Given the description of an element on the screen output the (x, y) to click on. 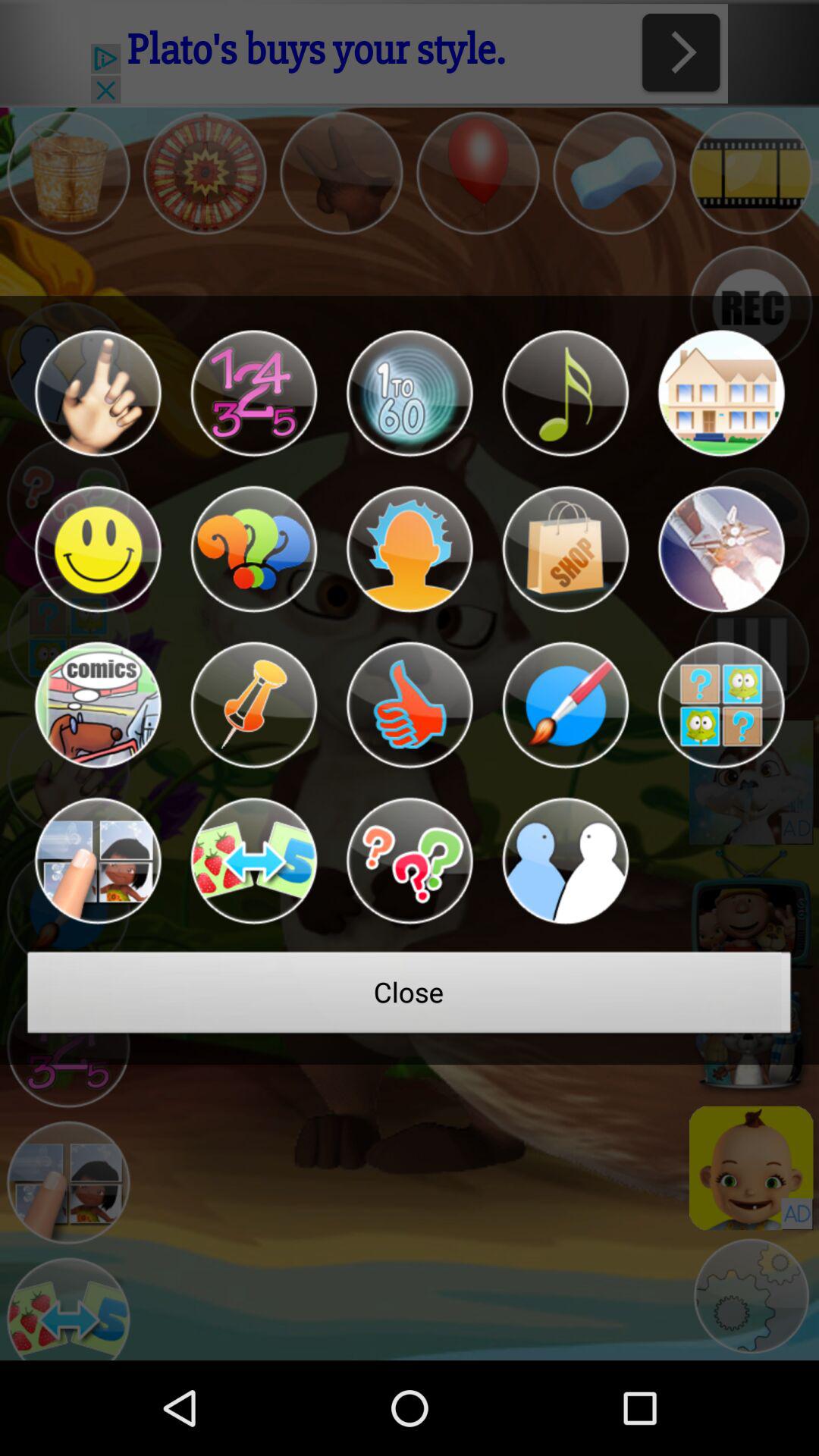
open the item above the close item (253, 861)
